Given the description of an element on the screen output the (x, y) to click on. 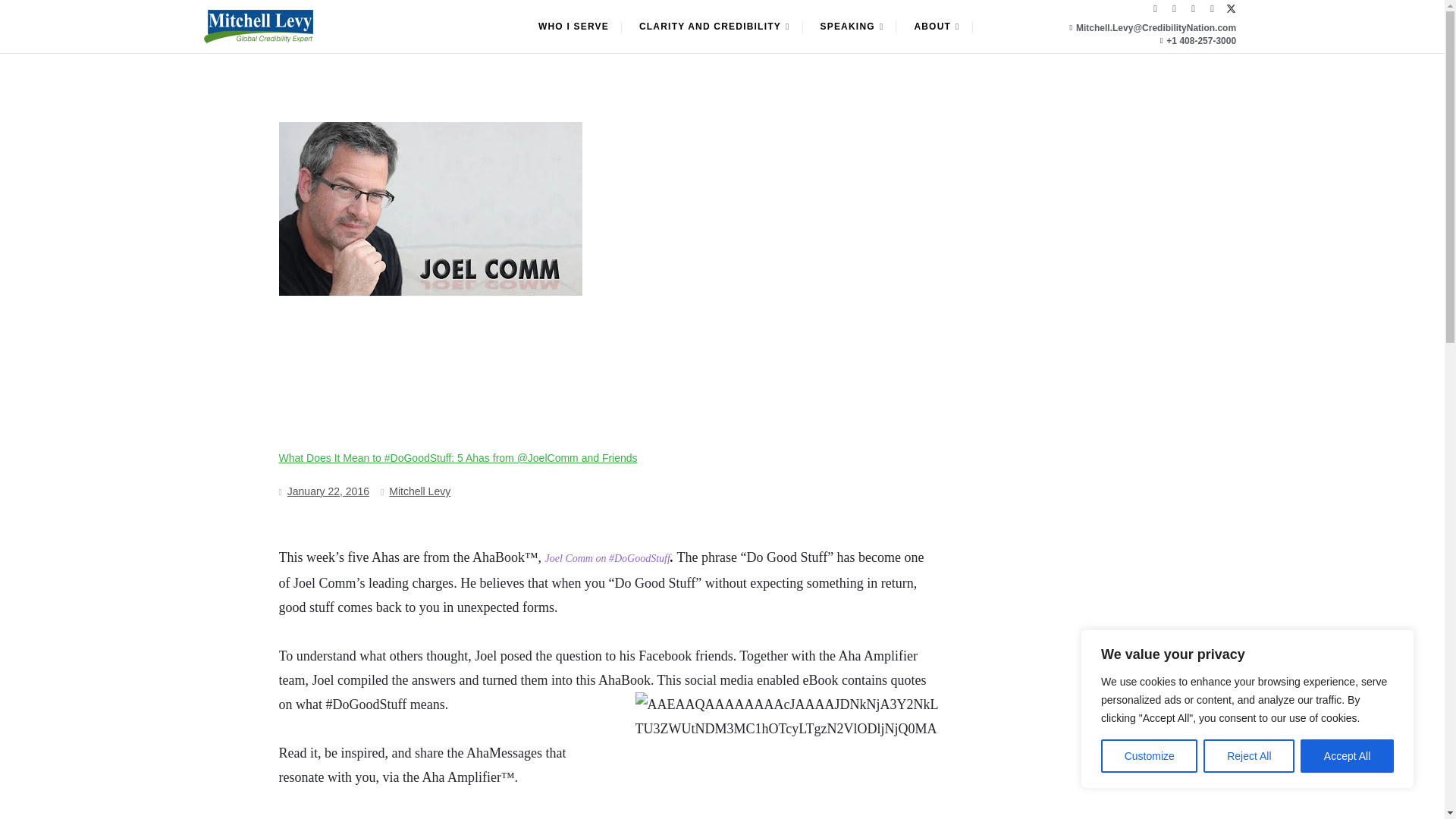
CLARITY AND CREDIBILITY (713, 27)
WHO I SERVE (573, 27)
Customize (1148, 756)
Accept All (1346, 756)
Reject All (1249, 756)
